Given the description of an element on the screen output the (x, y) to click on. 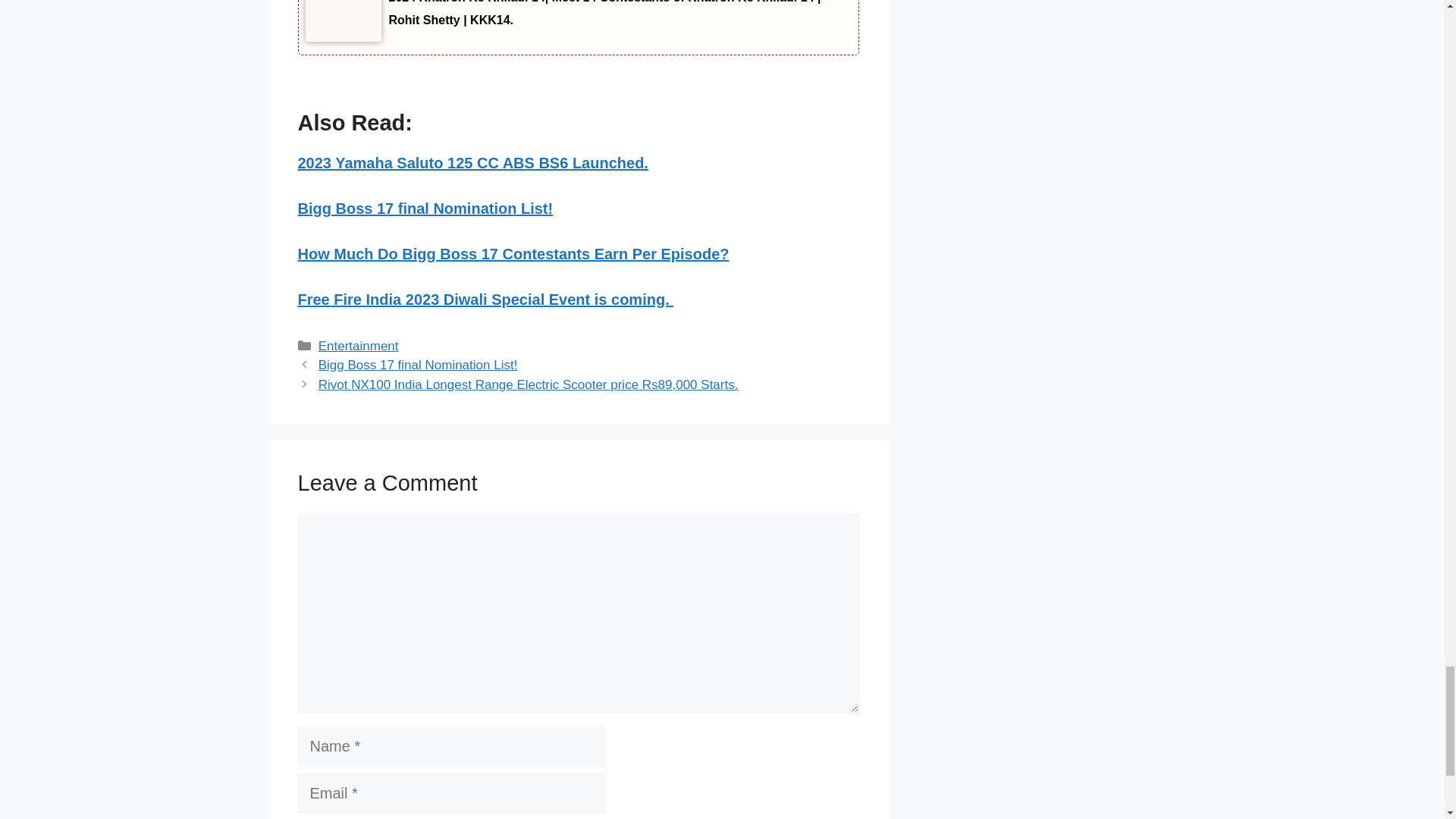
Free Fire India 2023 Diwali Special Event is coming.  (484, 299)
Bigg Boss 17 final Nomination List! (425, 208)
2023 Yamaha Saluto 125 CC ABS BS6 Launched. (472, 162)
Entertainment (358, 345)
Bigg Boss 17 final Nomination List! (418, 364)
How Much Do Bigg Boss 17 Contestants Earn Per Episode? (513, 253)
